Given the description of an element on the screen output the (x, y) to click on. 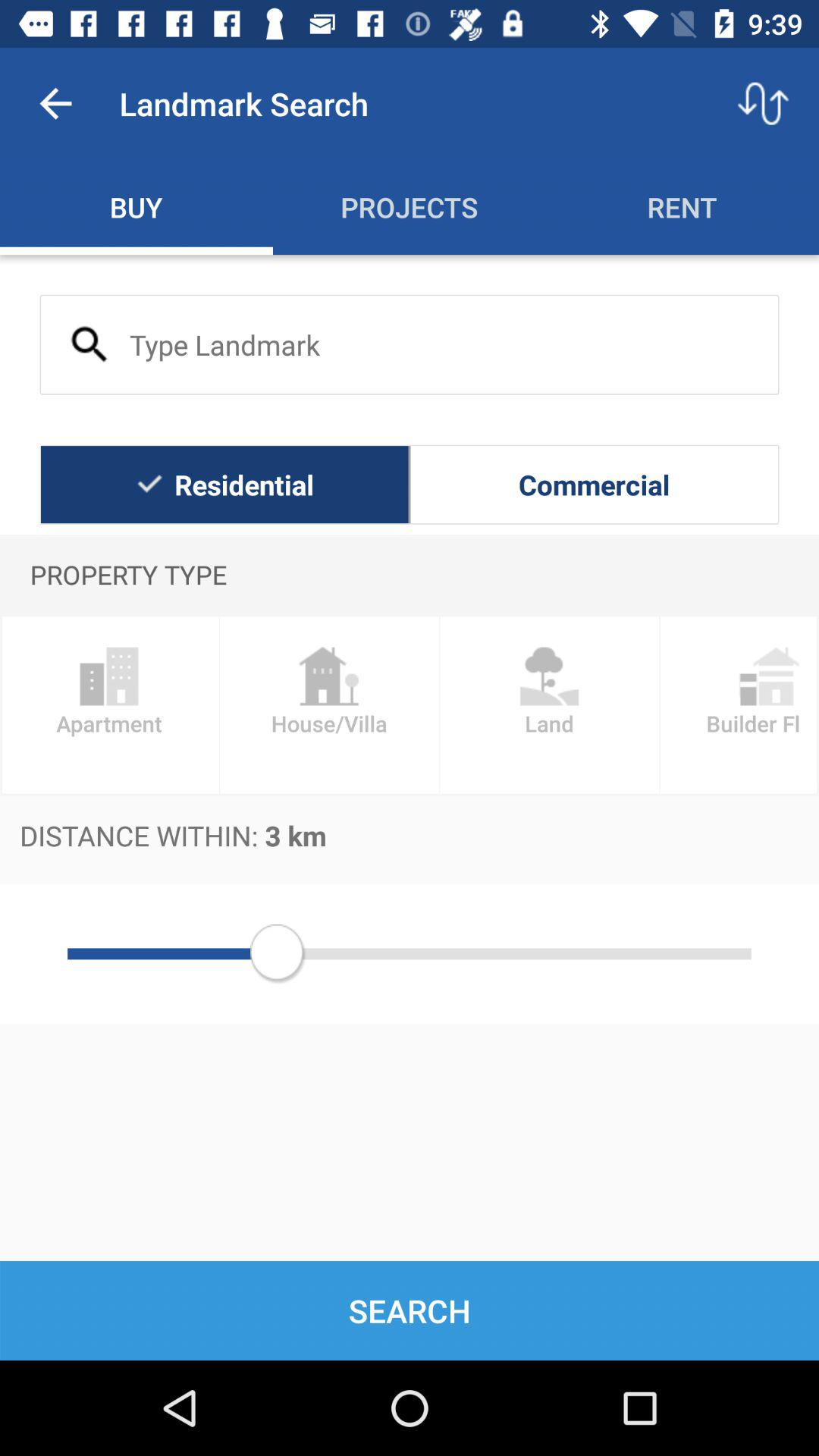
flip until house/villa (329, 704)
